Given the description of an element on the screen output the (x, y) to click on. 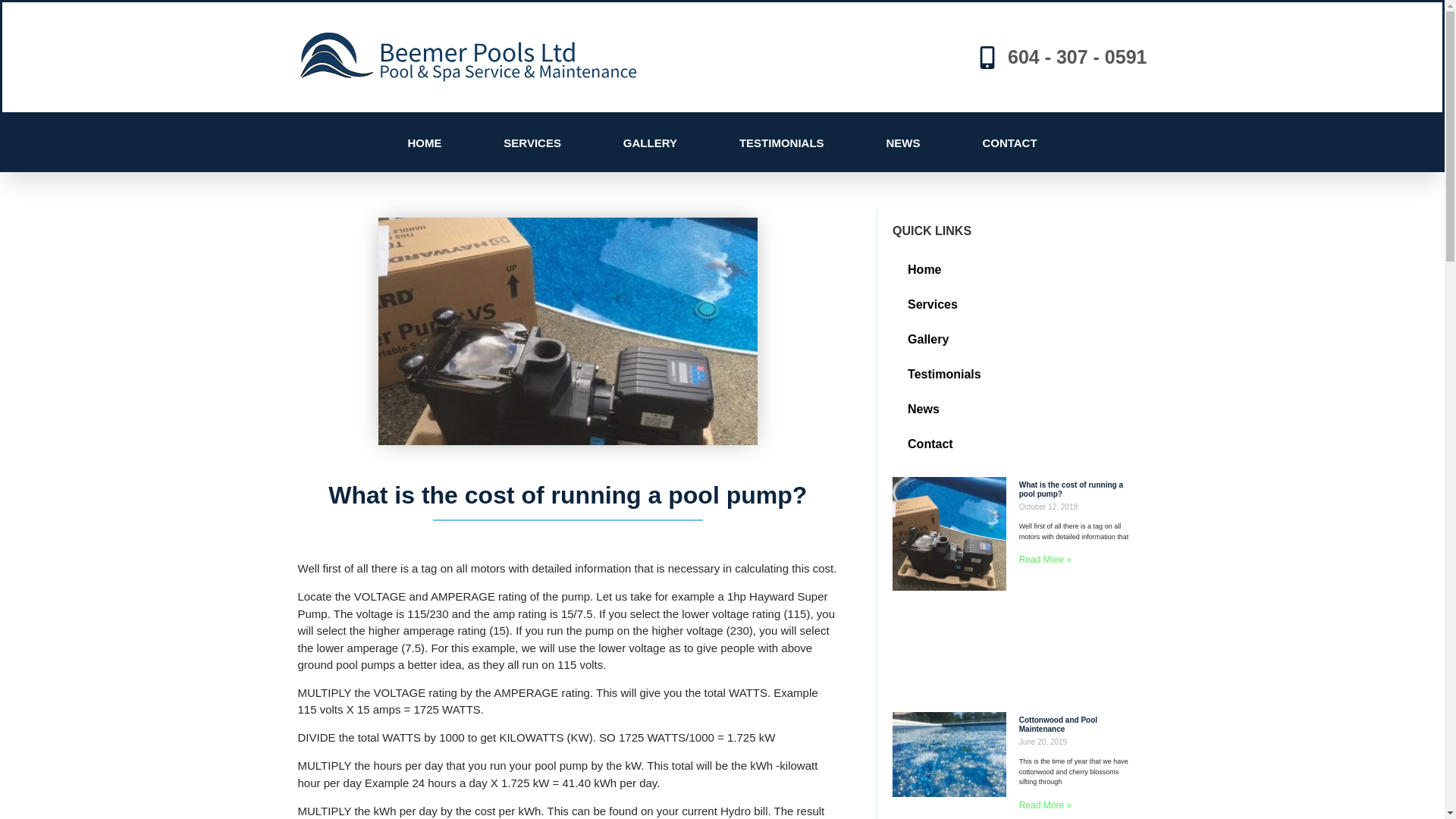
Cottonwood and Pool Maintenance Element type: text (1058, 724)
What is the cost of running a pool pump? Element type: text (1071, 489)
NEWS Element type: text (903, 143)
604 - 307 - 0591 Element type: text (1061, 57)
CONTACT Element type: text (1008, 143)
HOME Element type: text (424, 143)
TESTIMONIALS Element type: text (781, 143)
GALLERY Element type: text (650, 143)
IMG_3165 Element type: hover (567, 331)
Home Element type: text (1015, 269)
Testimonials Element type: text (1015, 374)
Services Element type: text (1015, 304)
Gallery Element type: text (1015, 339)
SERVICES Element type: text (532, 143)
News Element type: text (1015, 409)
Contact Element type: text (1015, 443)
